Given the description of an element on the screen output the (x, y) to click on. 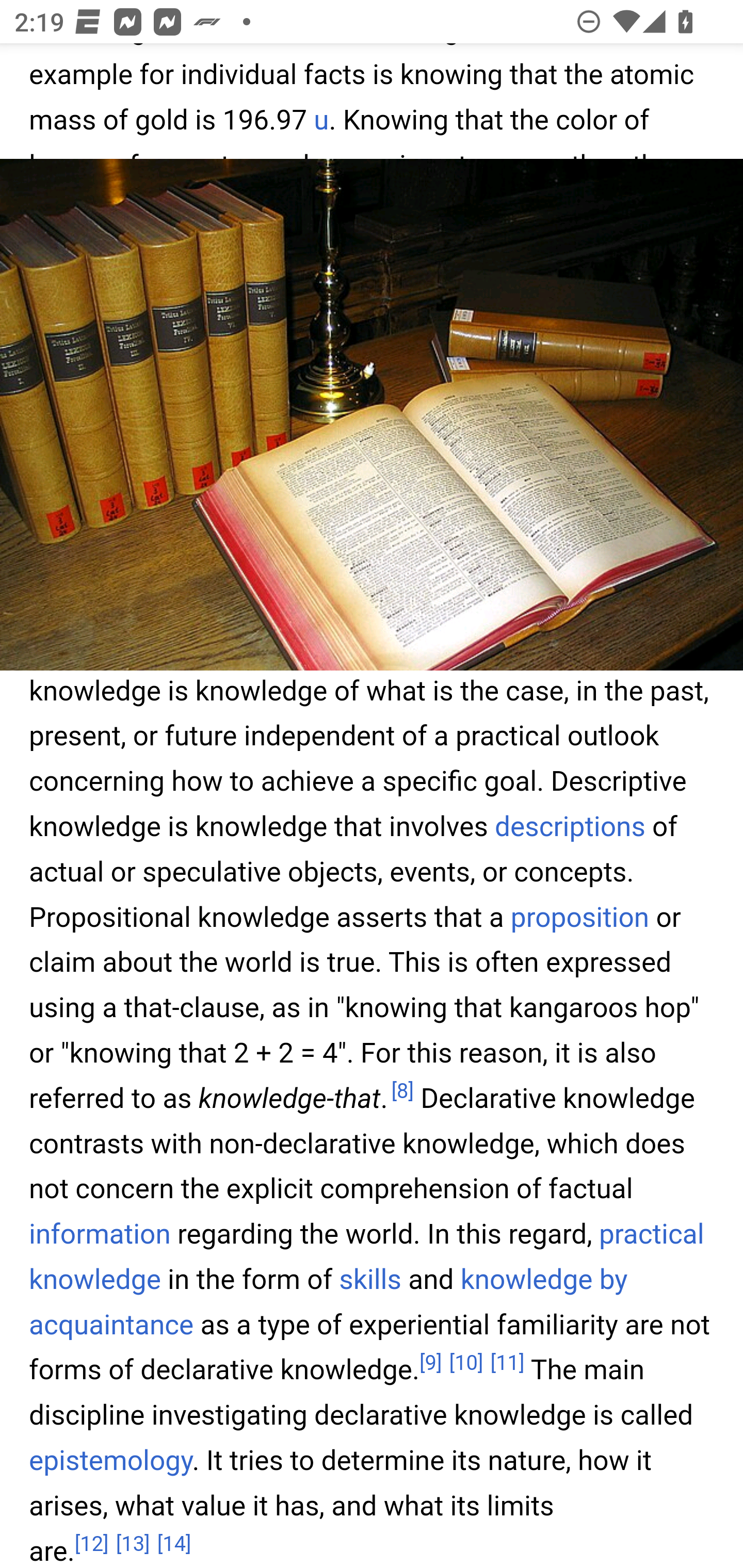
u (320, 121)
Image: Declarative knowledge (371, 414)
descriptions (570, 827)
proposition (579, 917)
[] [ 8 ] (402, 1091)
information (99, 1235)
practical knowledge (366, 1258)
knowledge by acquaintance (328, 1303)
skills (369, 1280)
[] [ 9 ] (430, 1363)
[] [ 10 ] (465, 1363)
[] [ 11 ] (506, 1363)
epistemology (110, 1461)
[] [ 12 ] (91, 1543)
[] [ 13 ] (133, 1543)
[] [ 14 ] (174, 1543)
